Given the description of an element on the screen output the (x, y) to click on. 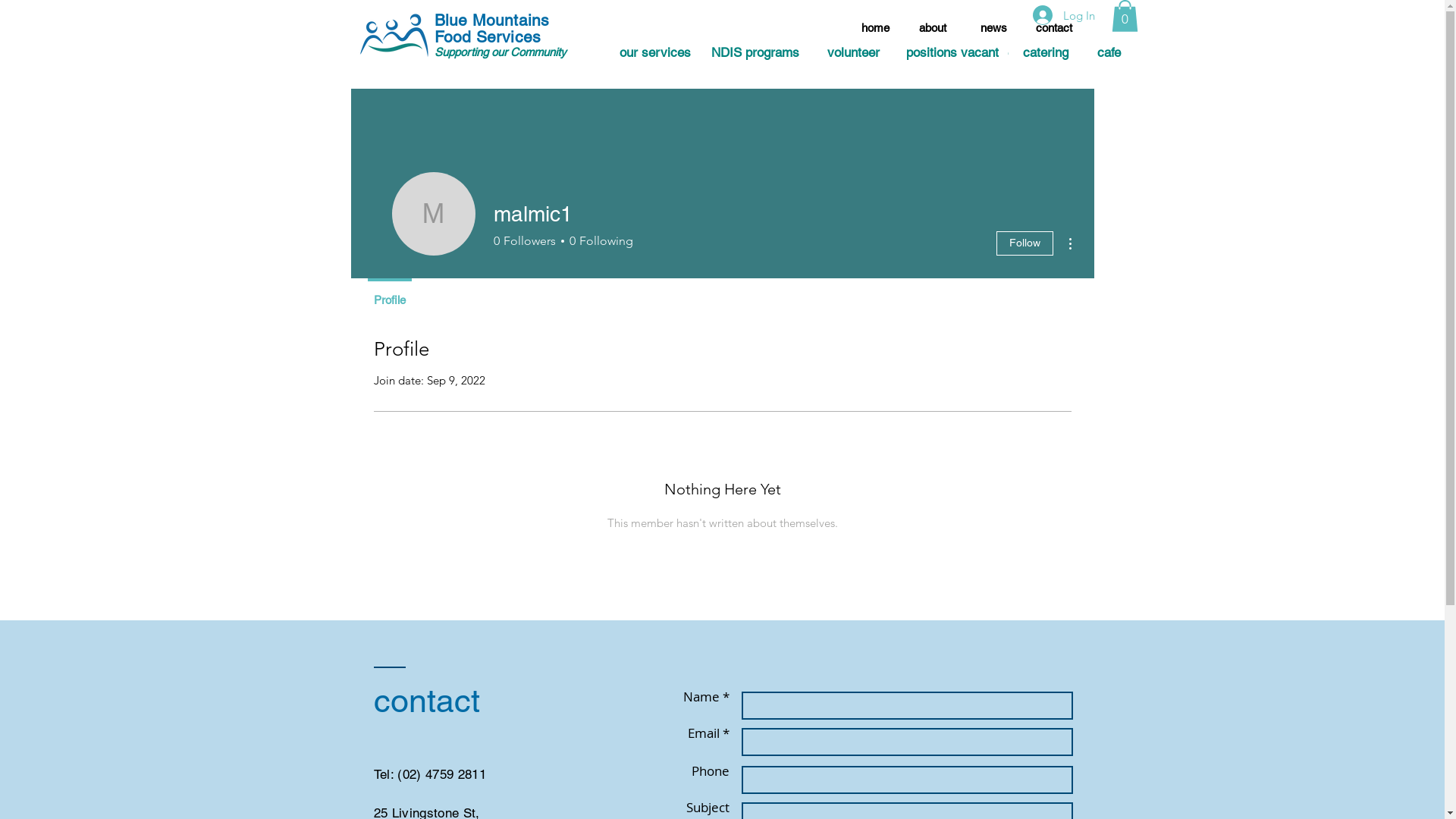
positions vacant Element type: text (951, 52)
Profile Element type: text (388, 293)
Log In Element type: text (1063, 14)
news Element type: text (992, 26)
NDIS programs Element type: text (754, 52)
catering Element type: text (1045, 52)
volunteer Element type: text (852, 52)
cafe Element type: text (1108, 52)
about Element type: text (932, 26)
our services Element type: text (655, 52)
Follow Element type: text (1024, 243)
0
Followers Element type: text (523, 240)
contact Element type: text (1054, 26)
0
Following Element type: text (598, 240)
0 Element type: text (1124, 15)
home Element type: text (874, 26)
